Given the description of an element on the screen output the (x, y) to click on. 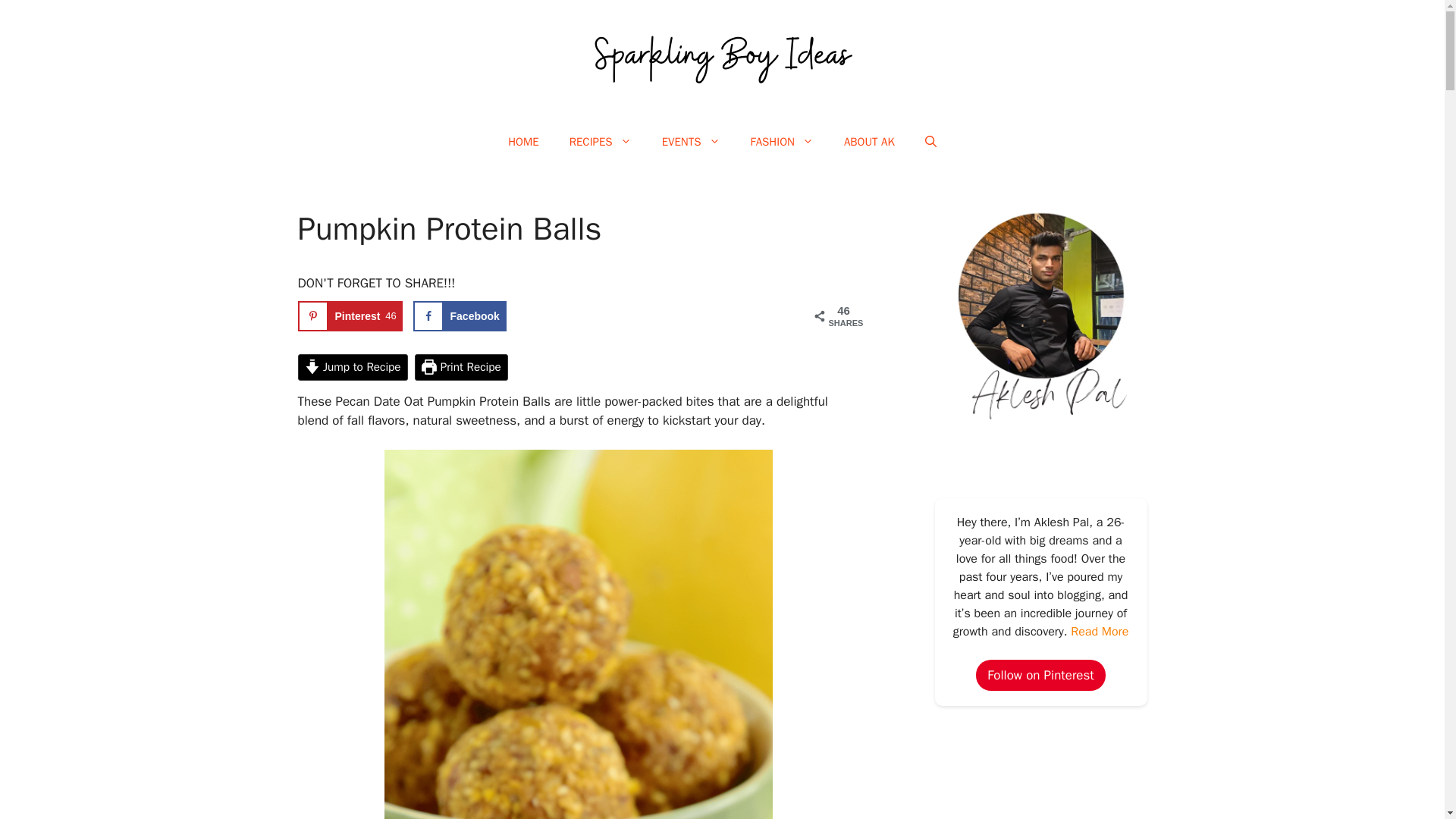
FASHION (781, 141)
RECIPES (600, 141)
Share on Facebook (459, 316)
Save to Pinterest (350, 316)
HOME (350, 316)
EVENTS (523, 141)
ABOUT AK (690, 141)
Pumpkin Protein Balls 1 (869, 141)
